Given the description of an element on the screen output the (x, y) to click on. 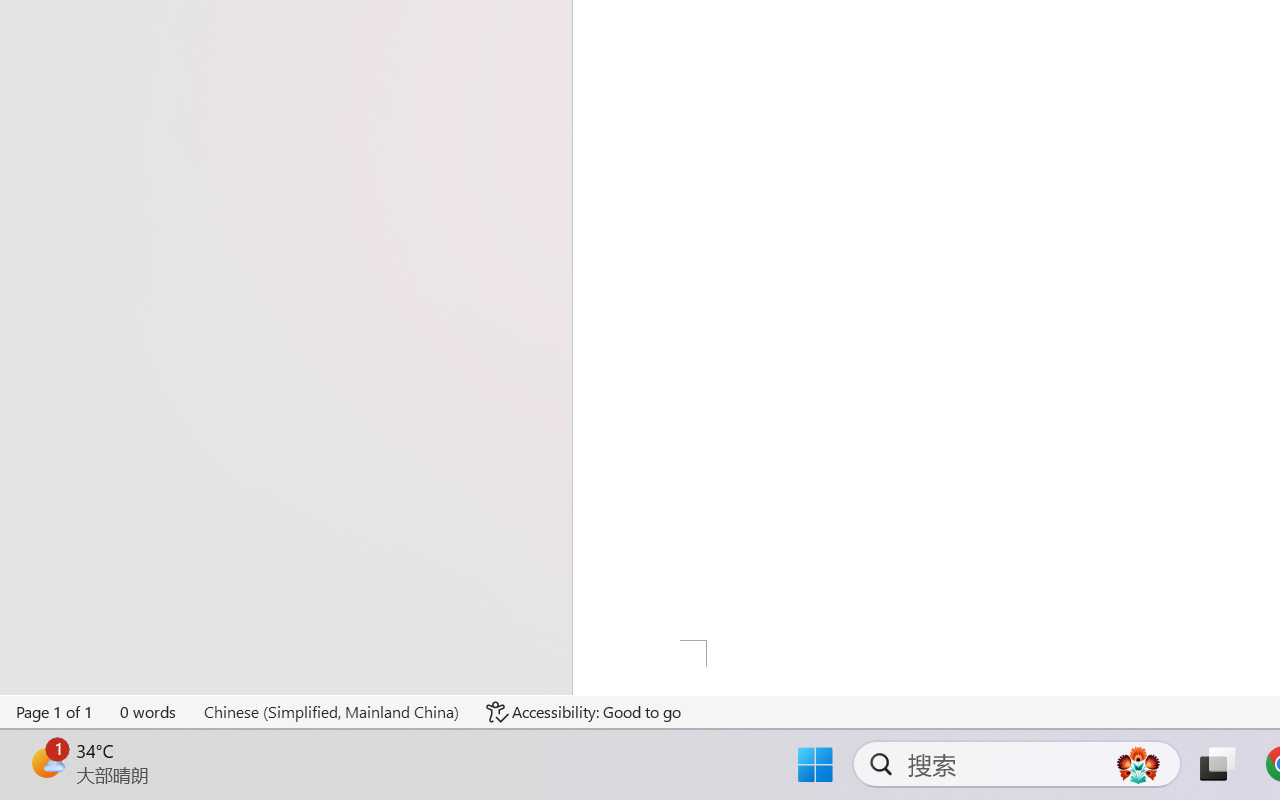
Accessibility Checker Accessibility: Good to go (583, 712)
AutomationID: BadgeAnchorLargeTicker (46, 762)
Language Chinese (Simplified, Mainland China) (331, 712)
Page Number Page 1 of 1 (55, 712)
AutomationID: DynamicSearchBoxGleamImage (1138, 764)
Word Count 0 words (149, 712)
